Given the description of an element on the screen output the (x, y) to click on. 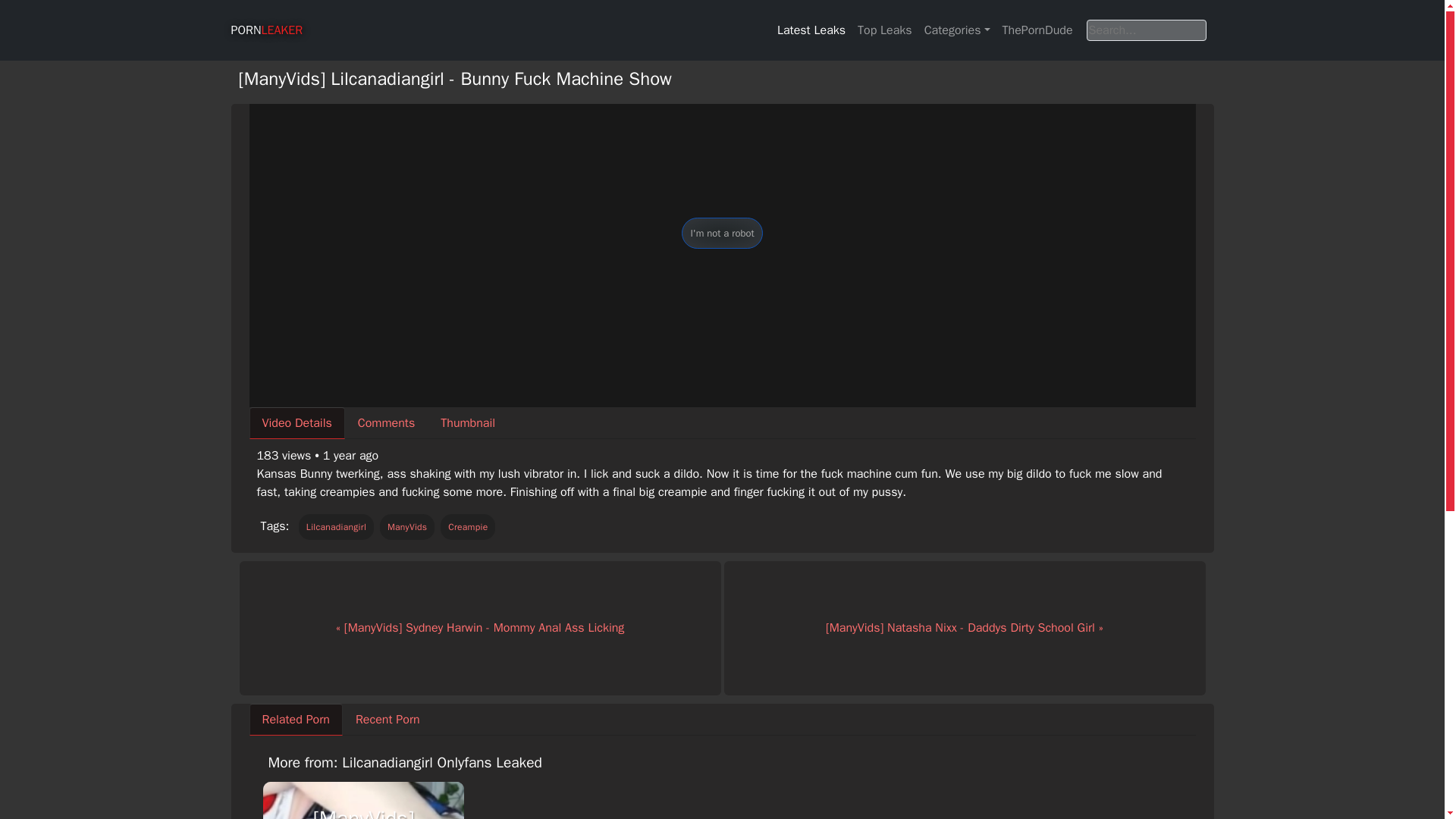
Comments (386, 422)
ThePornDude (1036, 30)
Video Details (295, 422)
Top Leaks (884, 30)
Related Porn (295, 719)
Creampie (468, 526)
ThePornDude (1036, 30)
Categories (956, 30)
Lilcanadiangirl (336, 526)
Recent Porn (387, 719)
ManyVids (407, 526)
Latest Leaks (811, 30)
I'm not a robot (721, 233)
Home (266, 30)
PORNLEAKER (266, 30)
